Given the description of an element on the screen output the (x, y) to click on. 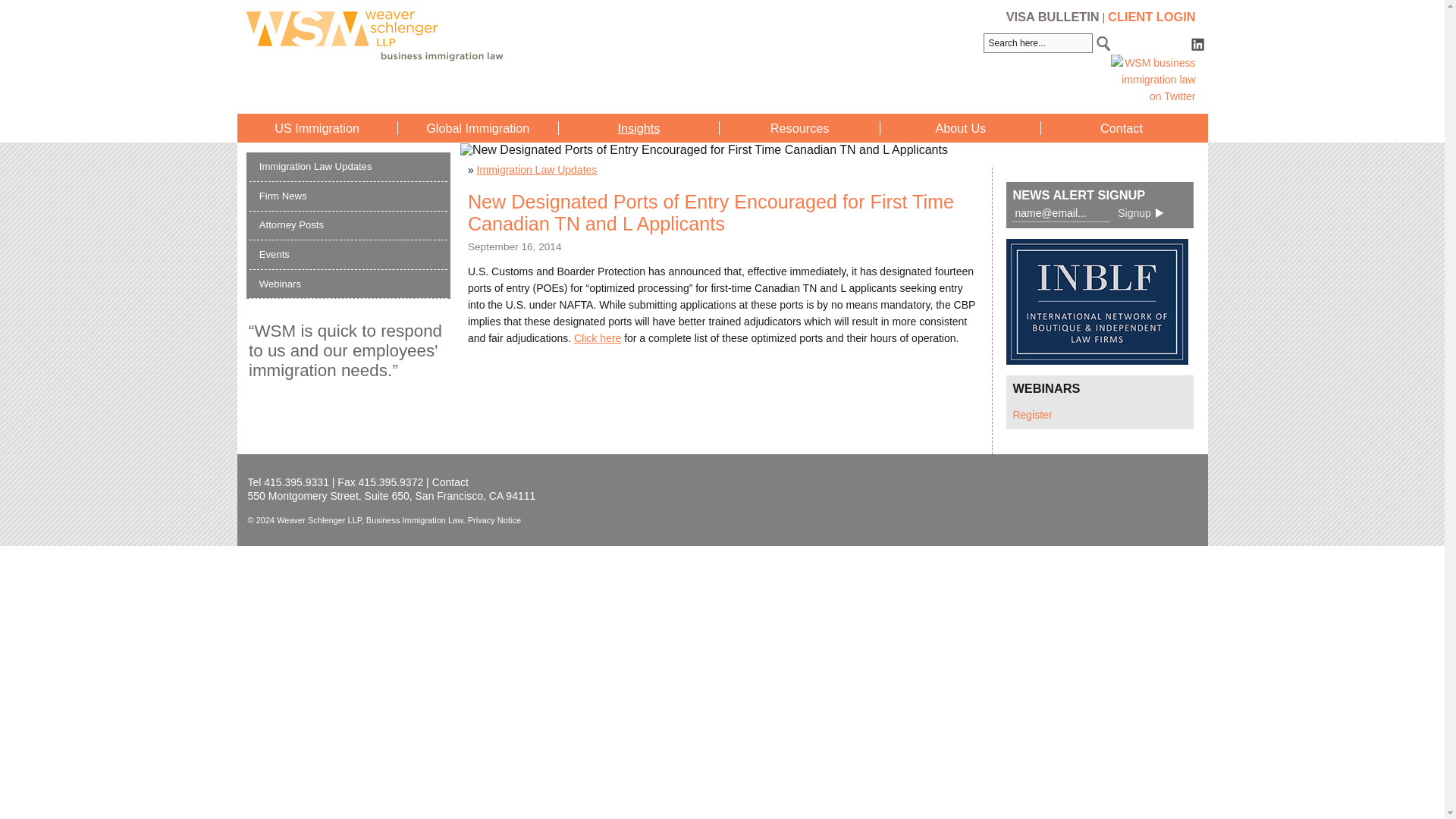
Contact (1121, 128)
Webinars (280, 283)
Immigration Law Updates (536, 169)
Immigration Law Updates (315, 165)
VISA BULLETIN (1052, 16)
Contact (450, 481)
Resources (799, 128)
Immigration Law Updates (536, 169)
Resources (799, 128)
Click here (597, 337)
US Immigration (317, 128)
Events (274, 254)
Search here... (1038, 43)
About Us (959, 128)
Contact (450, 481)
